Given the description of an element on the screen output the (x, y) to click on. 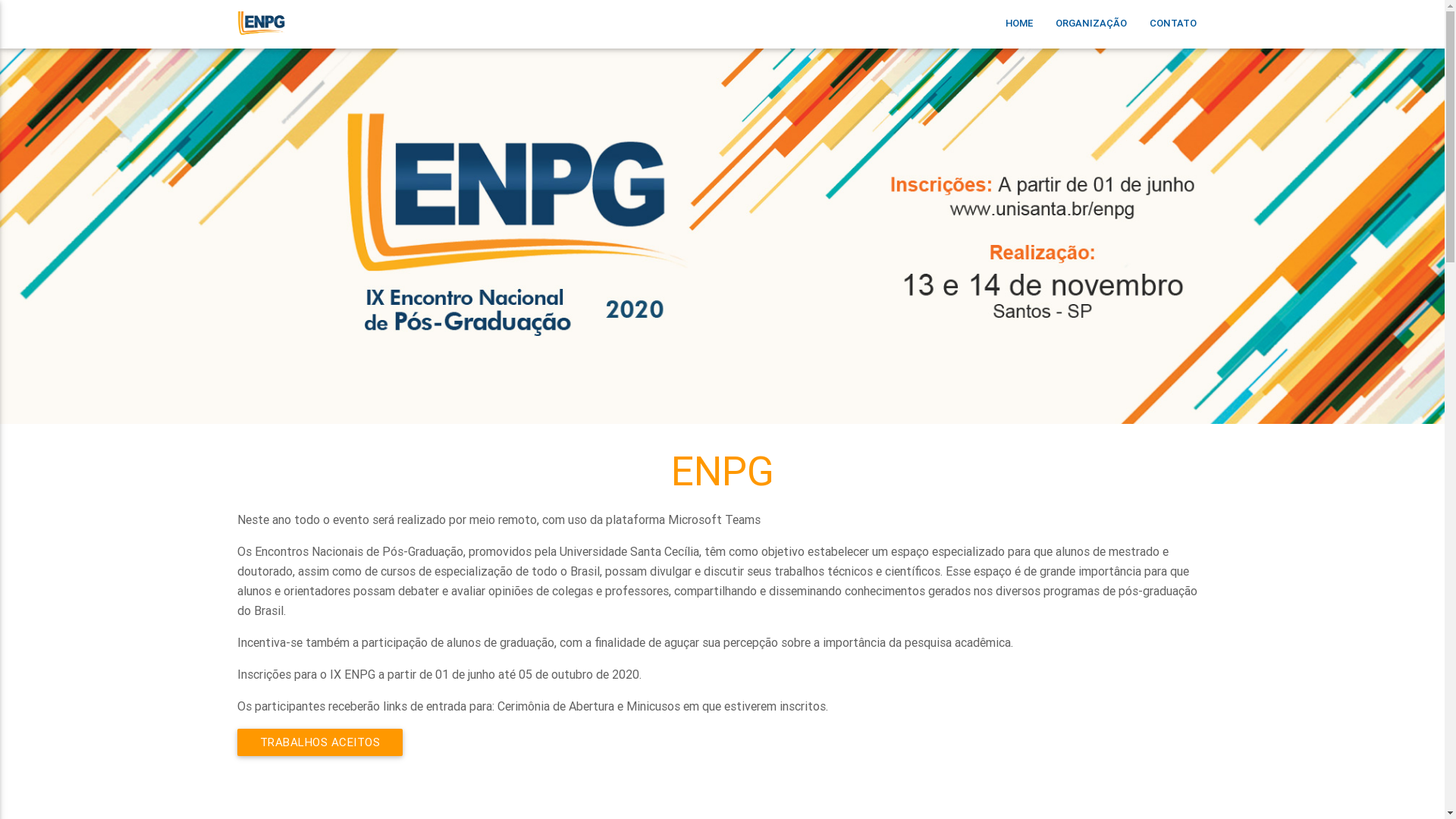
CONTATO Element type: text (1172, 38)
TRABALHOS ACEITOS Element type: text (319, 742)
ENPG Element type: hover (260, 44)
HOME Element type: text (1018, 38)
